Given the description of an element on the screen output the (x, y) to click on. 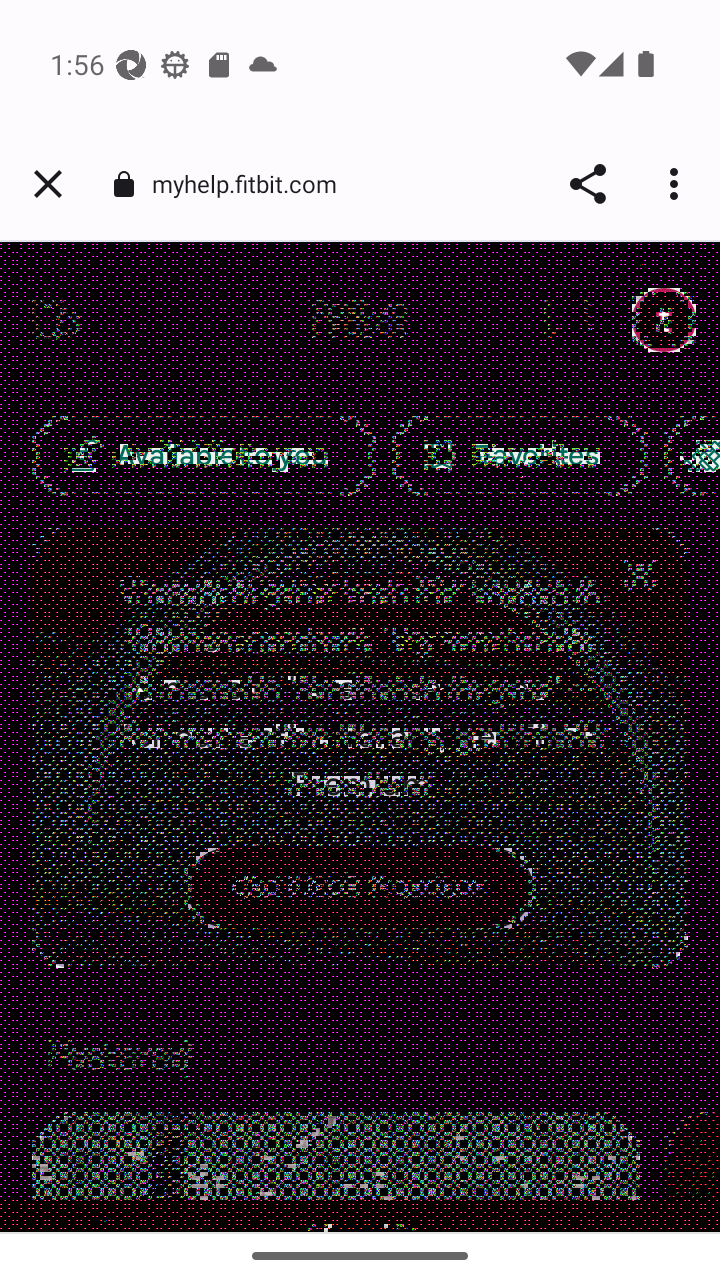
Close tab (47, 184)
Share (587, 184)
More options (677, 184)
Connection is secure (123, 183)
myhelp.fitbit.com (251, 182)
